Given the description of an element on the screen output the (x, y) to click on. 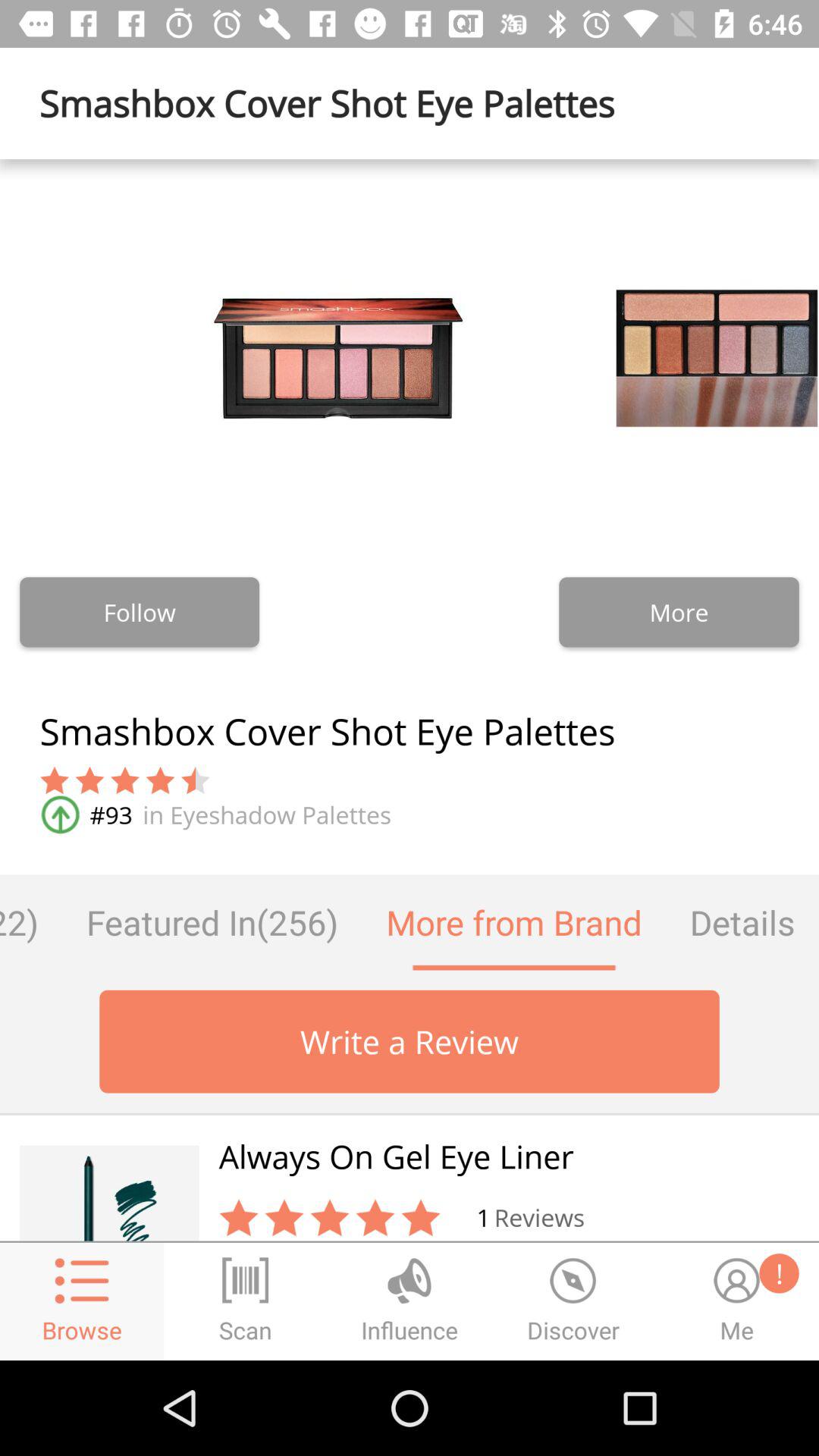
turn off the questions (122) item (31, 922)
